Given the description of an element on the screen output the (x, y) to click on. 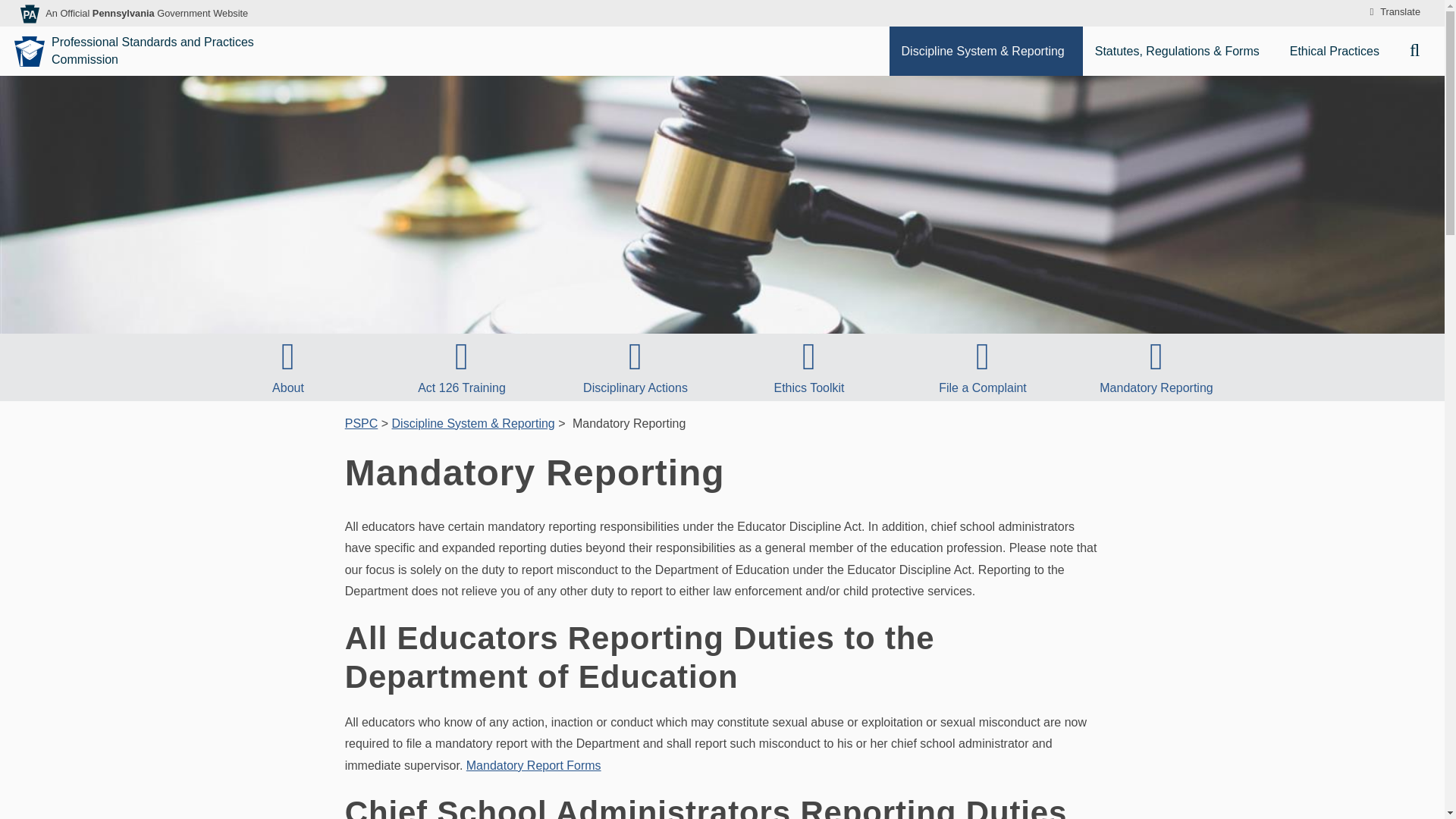
Ethical Practices (1337, 51)
Translate (1393, 12)
Professional Standards and Practices Commission (155, 51)
An Official Pennsylvania Government Website (146, 11)
